Given the description of an element on the screen output the (x, y) to click on. 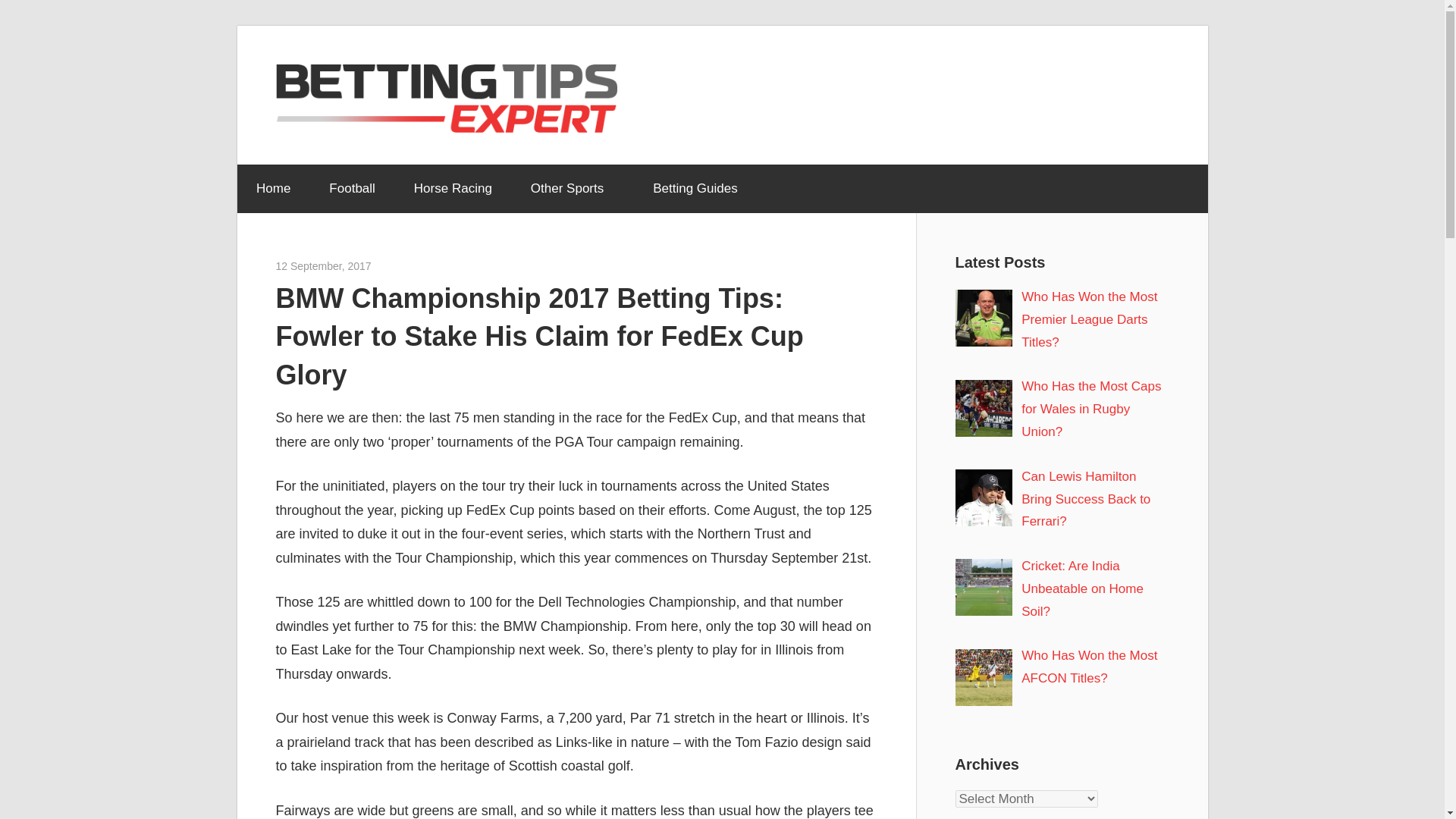
Can Lewis Hamilton Bring Success Back to Ferrari? (1086, 499)
12 September, 2017 (323, 265)
View all posts by Admin (386, 265)
Who Has the Most Caps for Wales in Rugby Union? (1091, 408)
Cricket: Are India Unbeatable on Home Soil? (1082, 588)
Other Sports (572, 188)
Football (352, 188)
Admin (386, 265)
Horse Racing (452, 188)
Who Has Won the Most Premier League Darts Titles? (1089, 319)
Who Has Won the Most AFCON Titles? (1089, 666)
2:13 pm (323, 265)
Betting Guides (700, 188)
Home (271, 188)
